Given the description of an element on the screen output the (x, y) to click on. 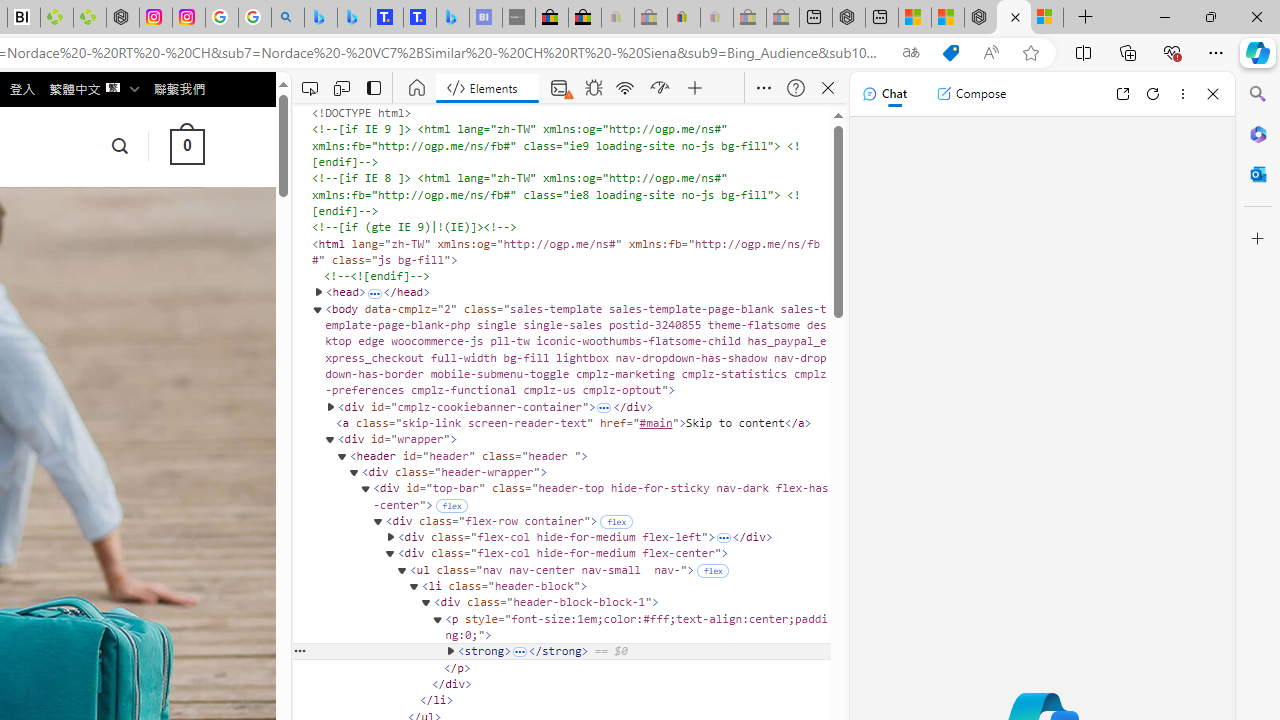
 0  (186, 146)
More tools (694, 88)
Close tab (1015, 16)
Split screen (1083, 52)
Sources (591, 88)
Move Activity Bar to left (373, 88)
Payments Terms of Use | eBay.com - Sleeping (717, 17)
The importance of being lazy (947, 17)
Customize (1258, 239)
Open link in new tab (1122, 93)
